Given the description of an element on the screen output the (x, y) to click on. 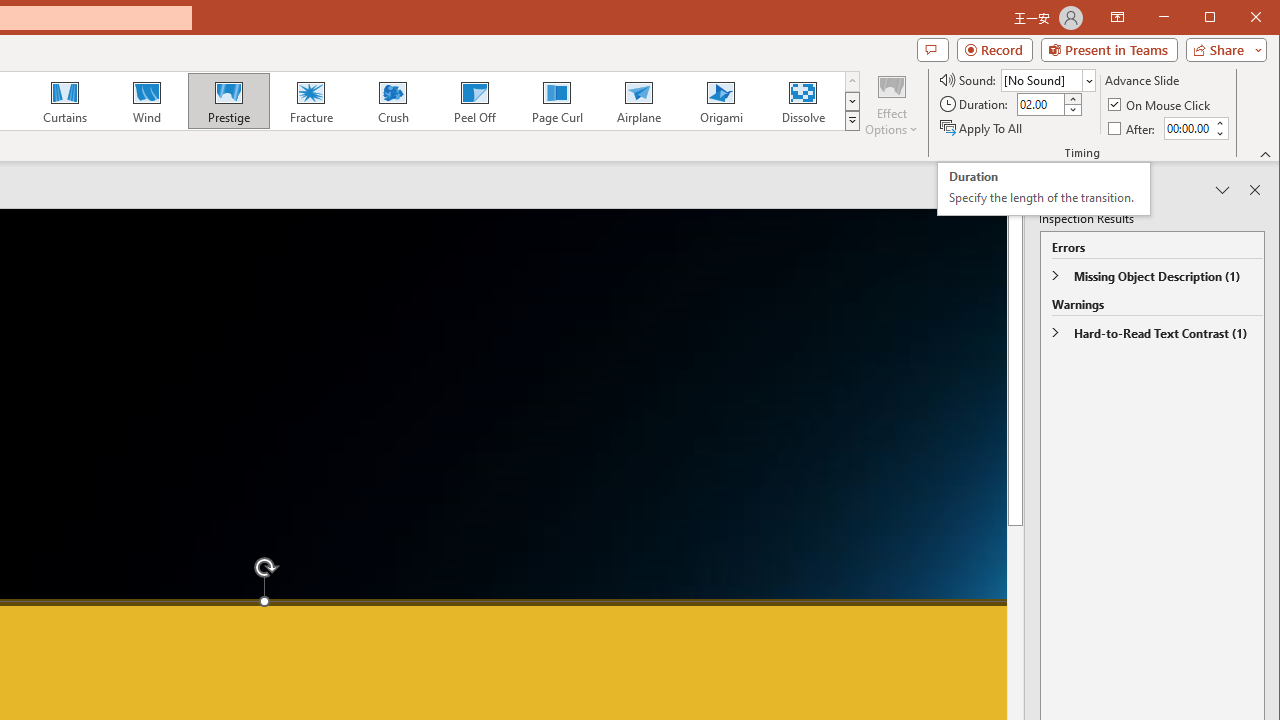
Sound (1047, 80)
Duration (1040, 104)
Apply To All (1043, 189)
Page Curl (982, 127)
On Mouse Click (556, 100)
Origami (1160, 103)
Transition Effects (720, 100)
